Given the description of an element on the screen output the (x, y) to click on. 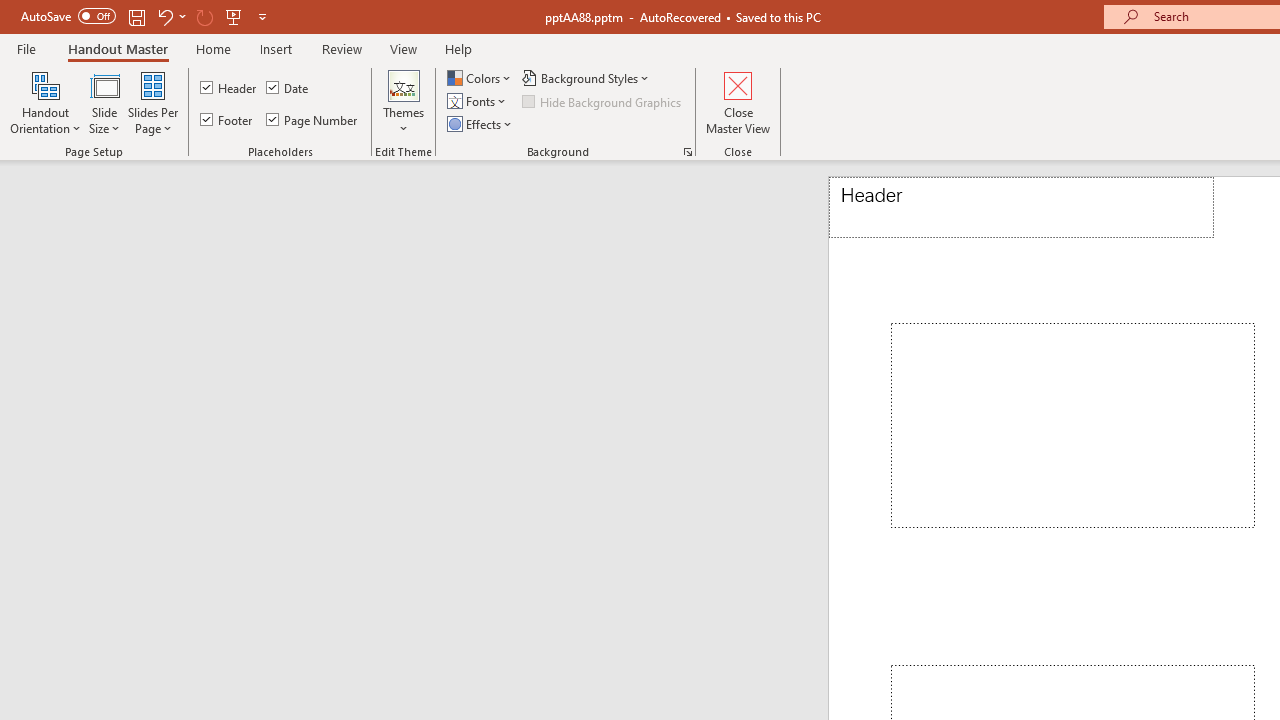
Header (1021, 207)
Format Background... (687, 151)
Colors (481, 78)
Page Number (312, 119)
Footer (227, 119)
Slides Per Page (152, 102)
Handout Master (117, 48)
Hide Background Graphics (603, 101)
